Given the description of an element on the screen output the (x, y) to click on. 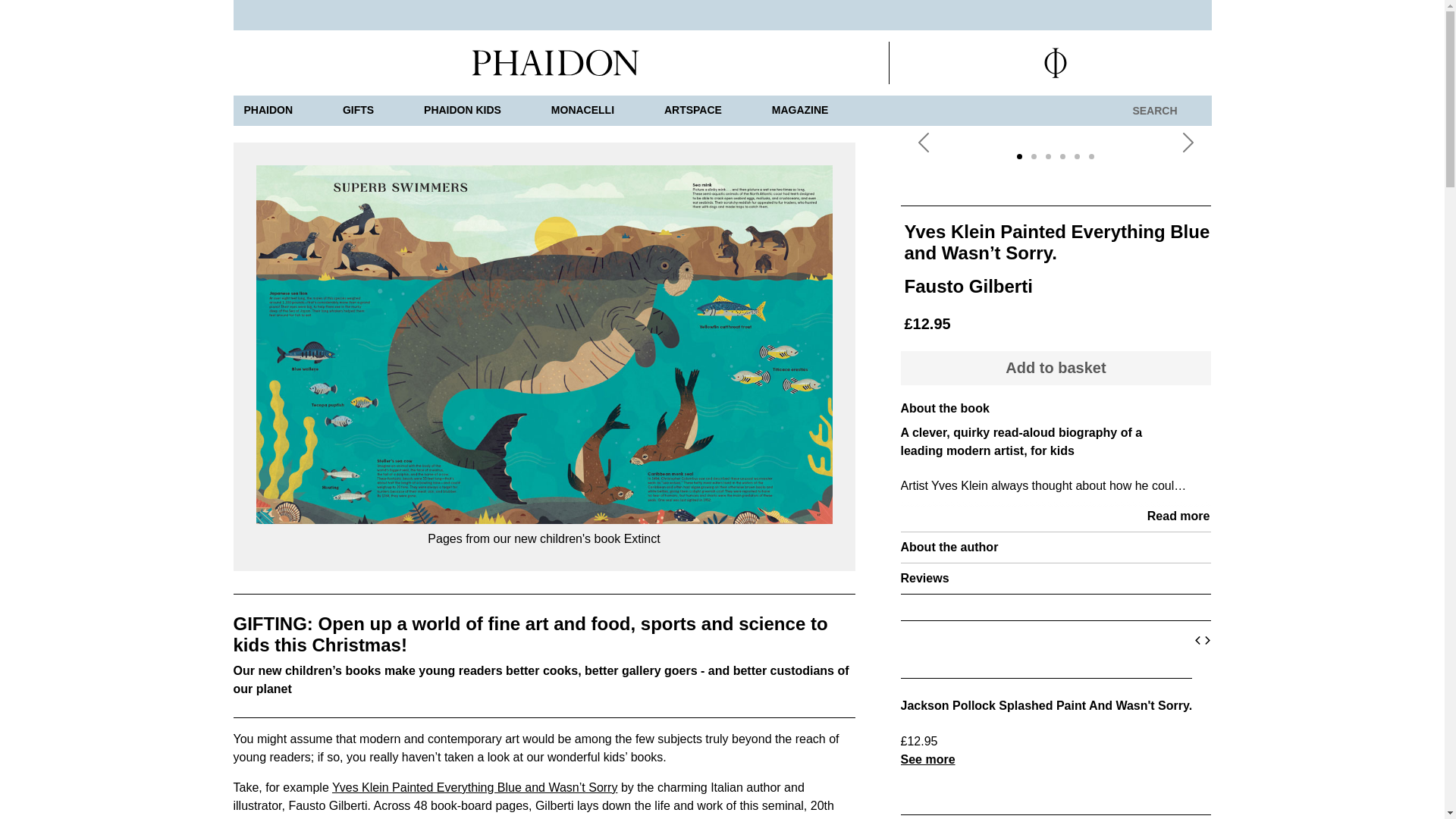
PHAIDON (268, 110)
MONACELLI (582, 110)
PHAIDON KIDS (462, 110)
GIFTS (358, 110)
